Given the description of an element on the screen output the (x, y) to click on. 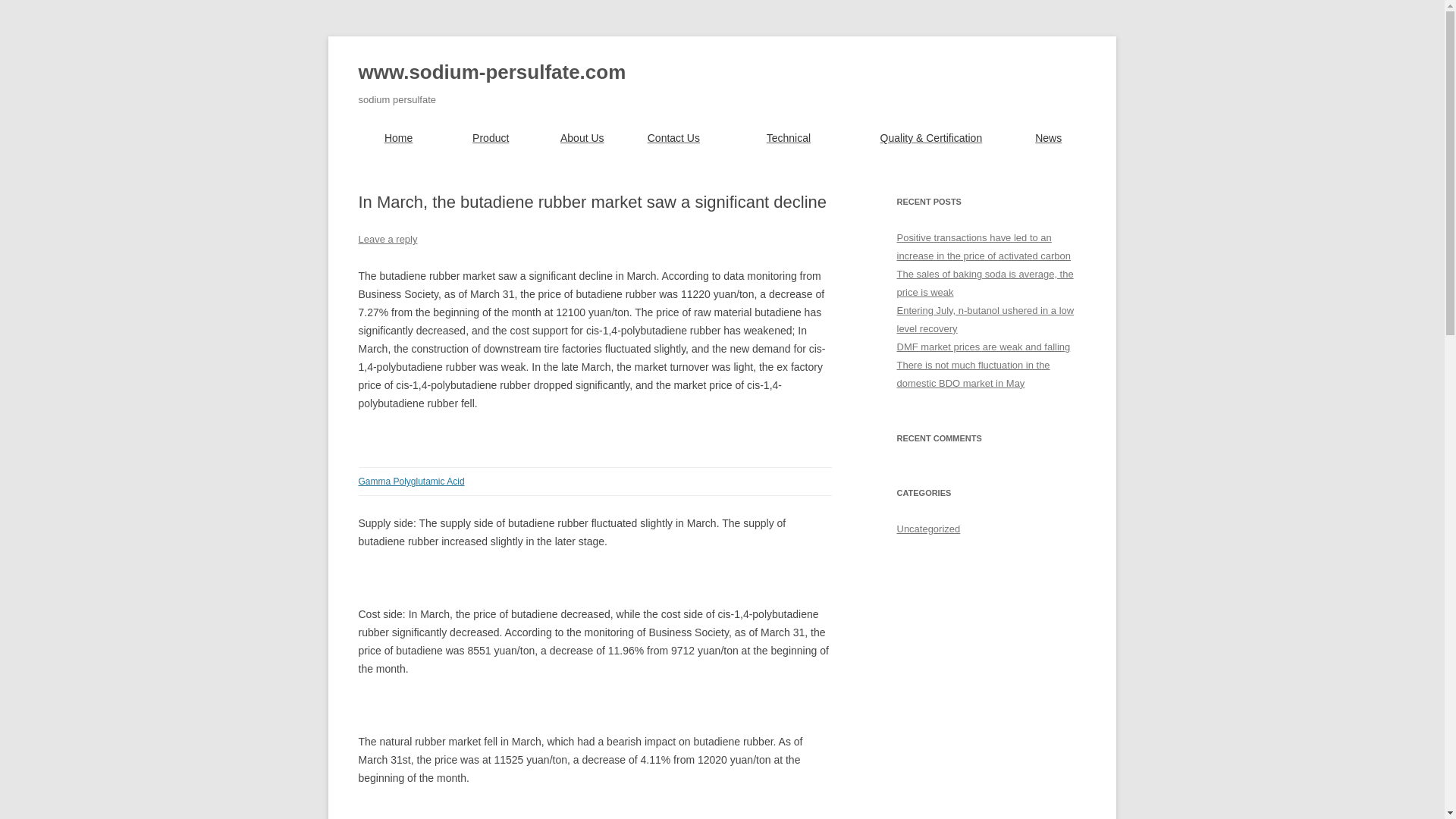
About Us (582, 137)
www.sodium-persulfate.com (492, 72)
Contact Us (673, 137)
News (1048, 137)
DMF market prices are weak and falling (983, 346)
Uncategorized (927, 528)
The sales of baking soda is average, the price is weak (984, 283)
Entering July, n-butanol ushered in a low level recovery (985, 319)
www.sodium-persulfate.com (492, 72)
The sales of baking soda is average, the price is weak (984, 283)
Product (491, 137)
Home (398, 137)
